Given the description of an element on the screen output the (x, y) to click on. 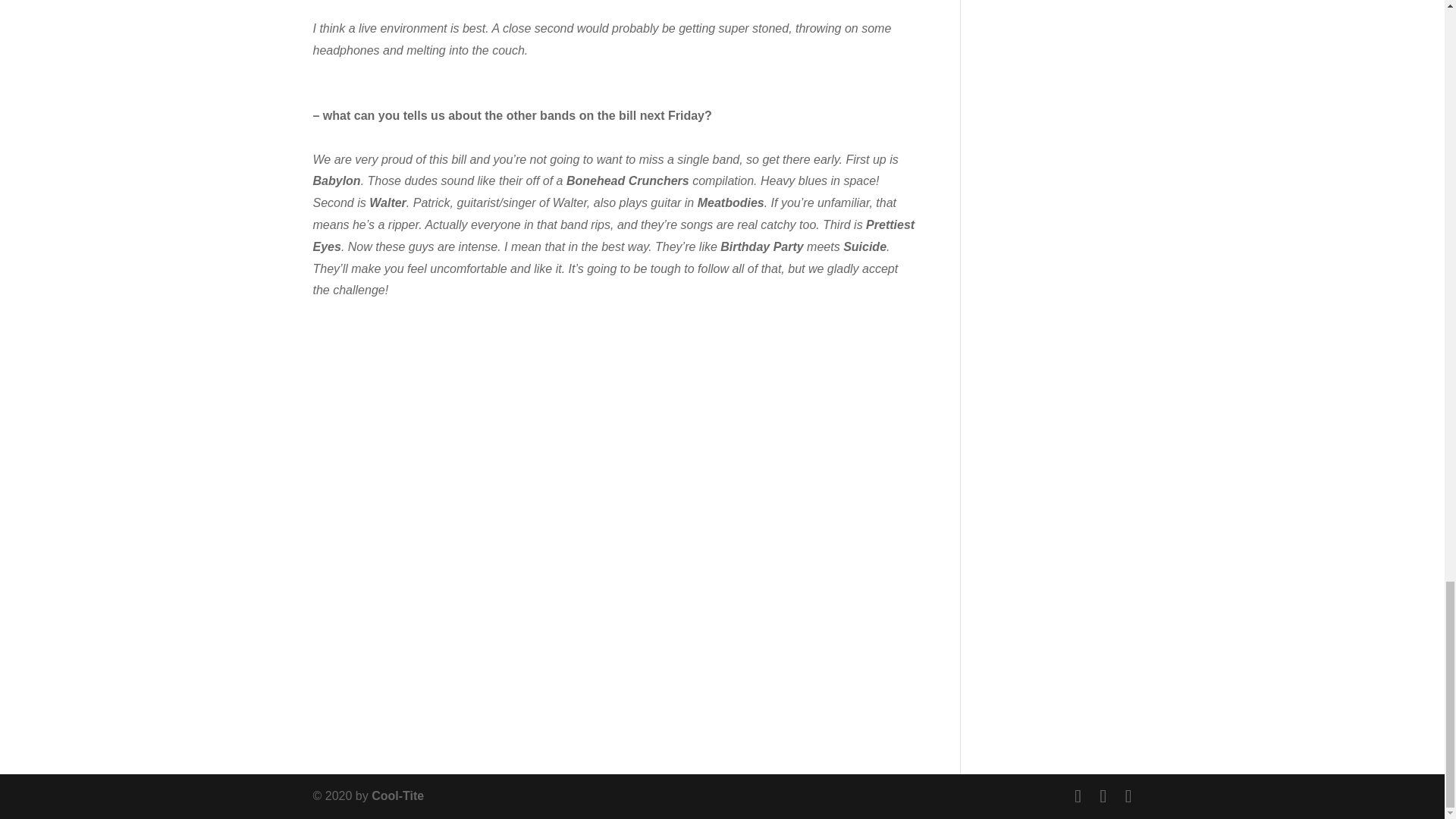
Cool-Tite (397, 795)
